Given the description of an element on the screen output the (x, y) to click on. 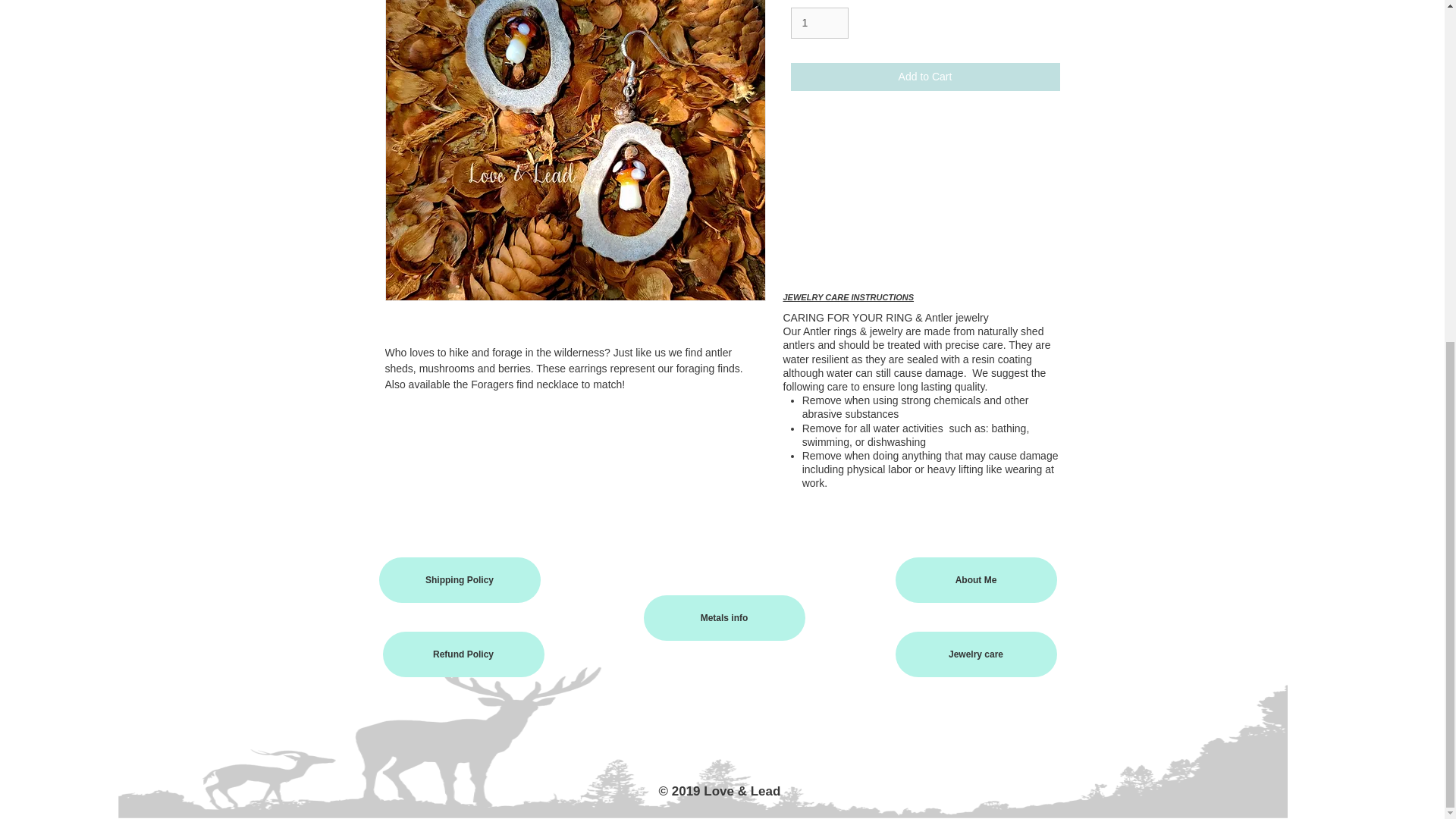
Metals info (724, 617)
Refund Policy (462, 654)
About Me (976, 579)
Jewelry care (976, 654)
Shipping Policy (459, 579)
1 (818, 22)
Add to Cart (924, 76)
